Given the description of an element on the screen output the (x, y) to click on. 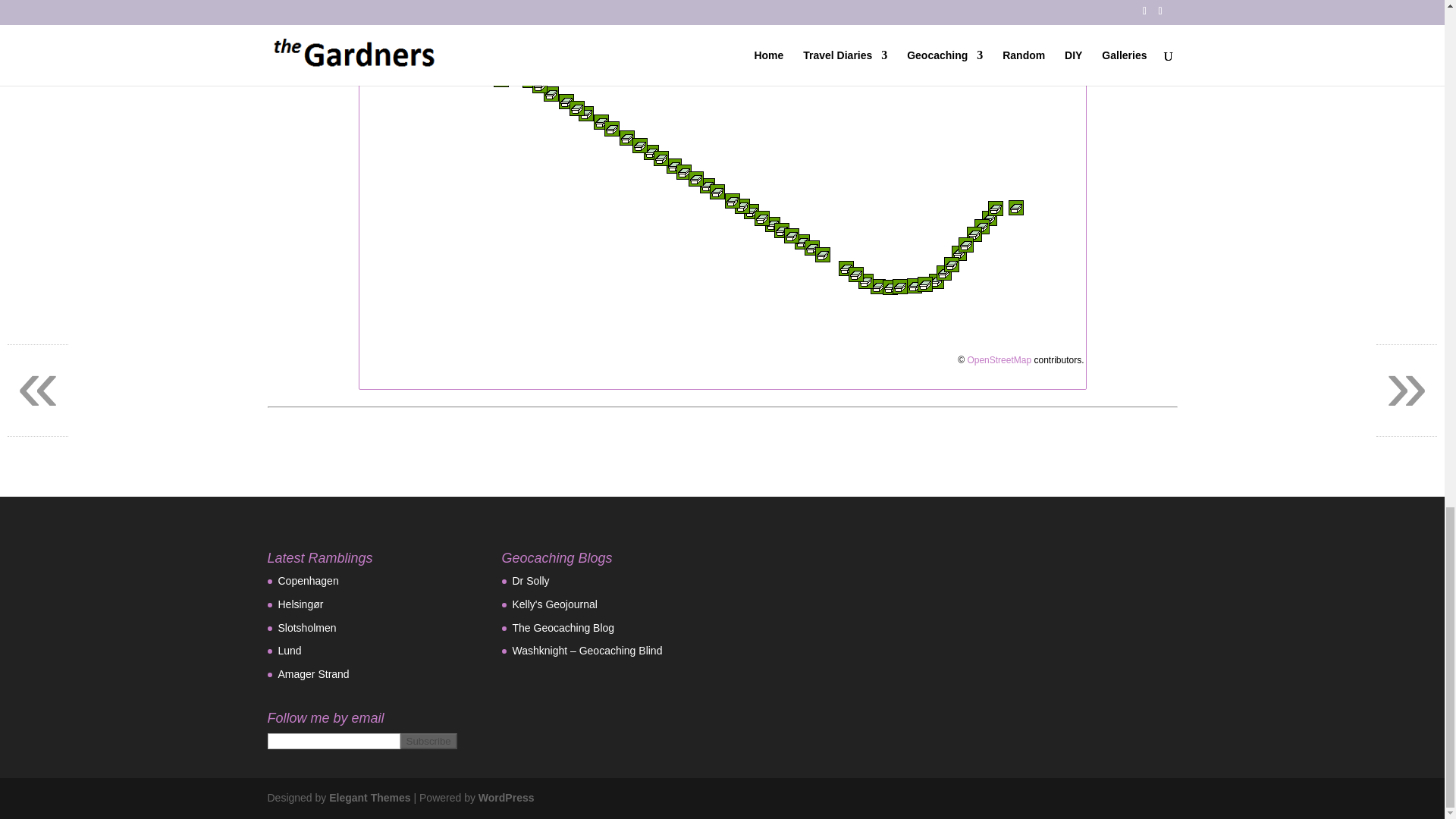
Premium WordPress Themes (369, 797)
Subscribe (428, 741)
